Given the description of an element on the screen output the (x, y) to click on. 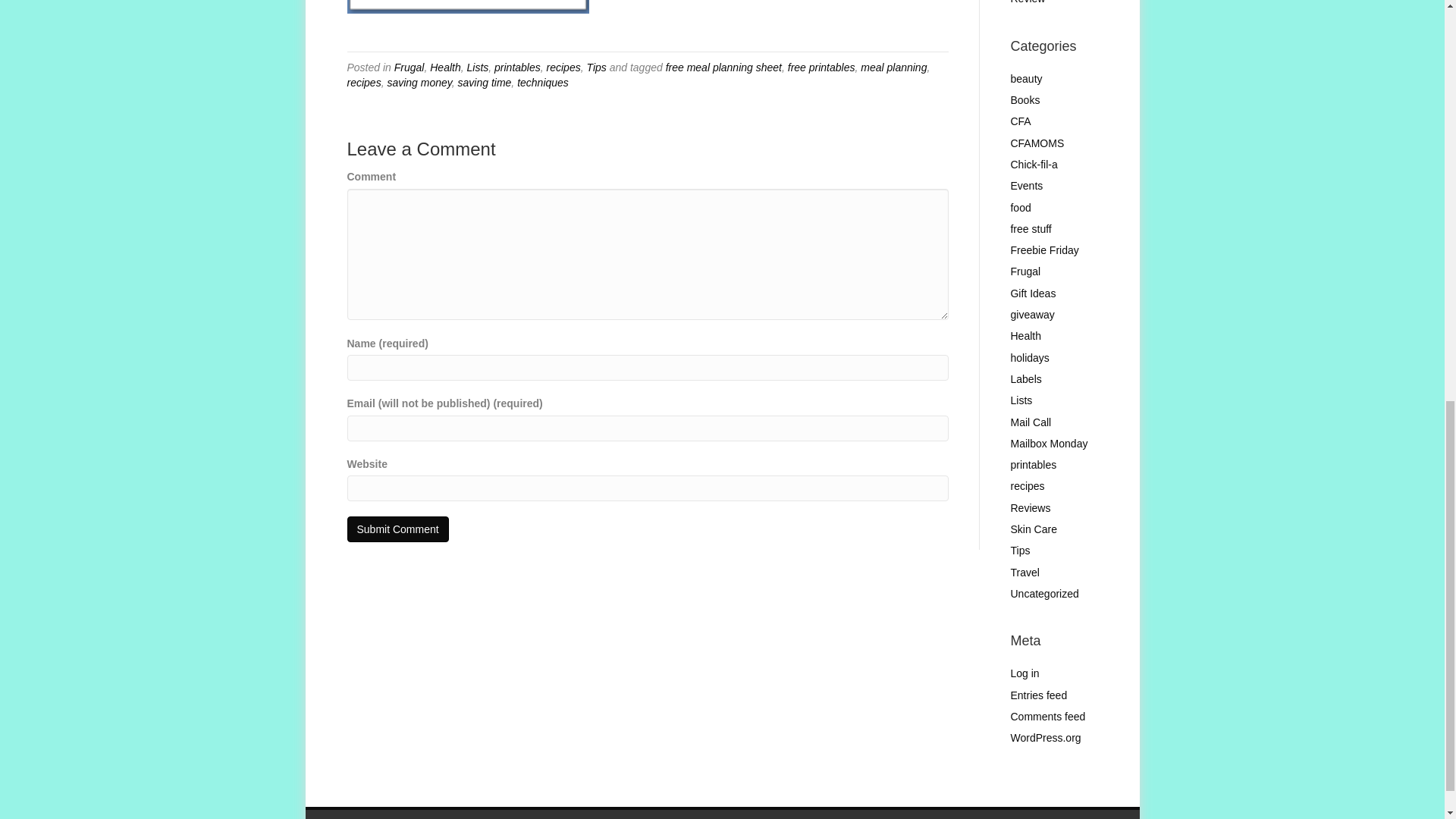
Chick-fil-a (1033, 164)
Events (1026, 185)
The London Cookbook Review (1053, 2)
techniques (542, 82)
CFA (1020, 121)
Frugal (409, 67)
saving money (419, 82)
saving time (485, 82)
recipes (364, 82)
CFAMOMS (1037, 143)
Health (444, 67)
Submit Comment (397, 529)
Lists (476, 67)
food (1020, 207)
Submit Comment (397, 529)
